Given the description of an element on the screen output the (x, y) to click on. 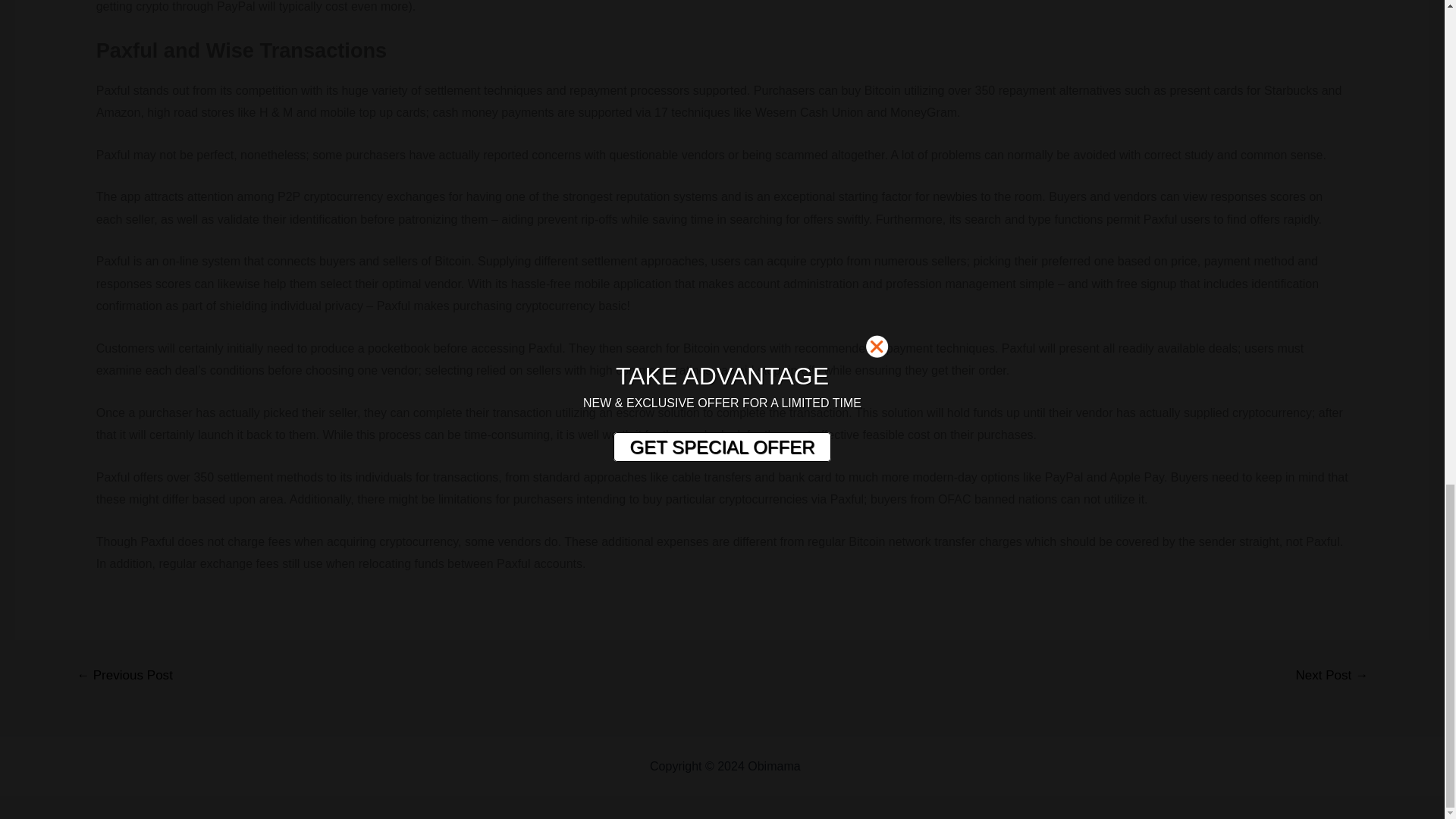
Sitemap (825, 766)
